Given the description of an element on the screen output the (x, y) to click on. 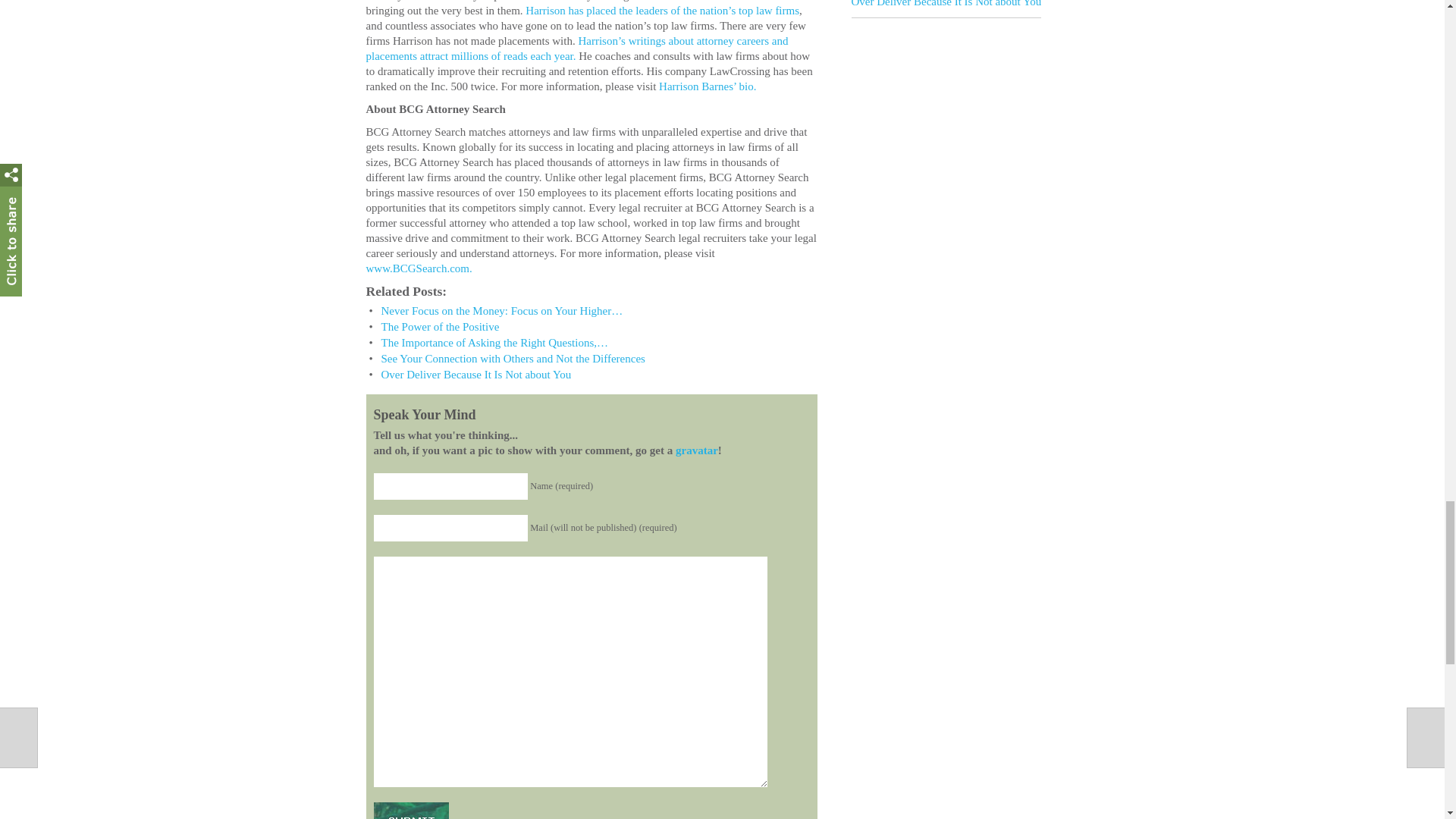
www.BCGSearch.com. (418, 268)
Over Deliver Because It Is Not about You (475, 374)
gravatar (696, 450)
See Your Connection with Others and Not the Differences (512, 358)
The Power of the Positive (439, 326)
